Given the description of an element on the screen output the (x, y) to click on. 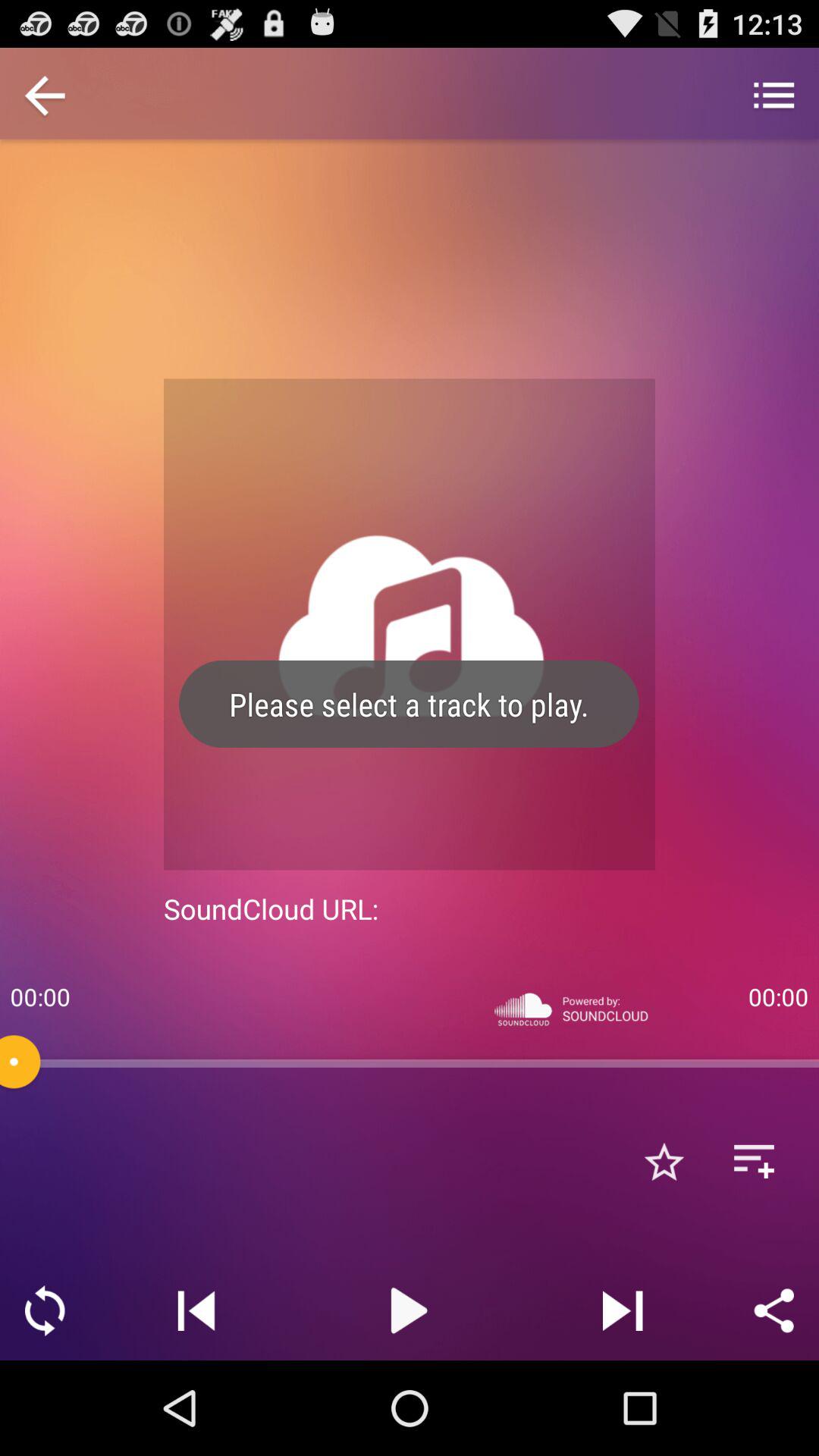
open the icon at the top right corner (774, 97)
